Given the description of an element on the screen output the (x, y) to click on. 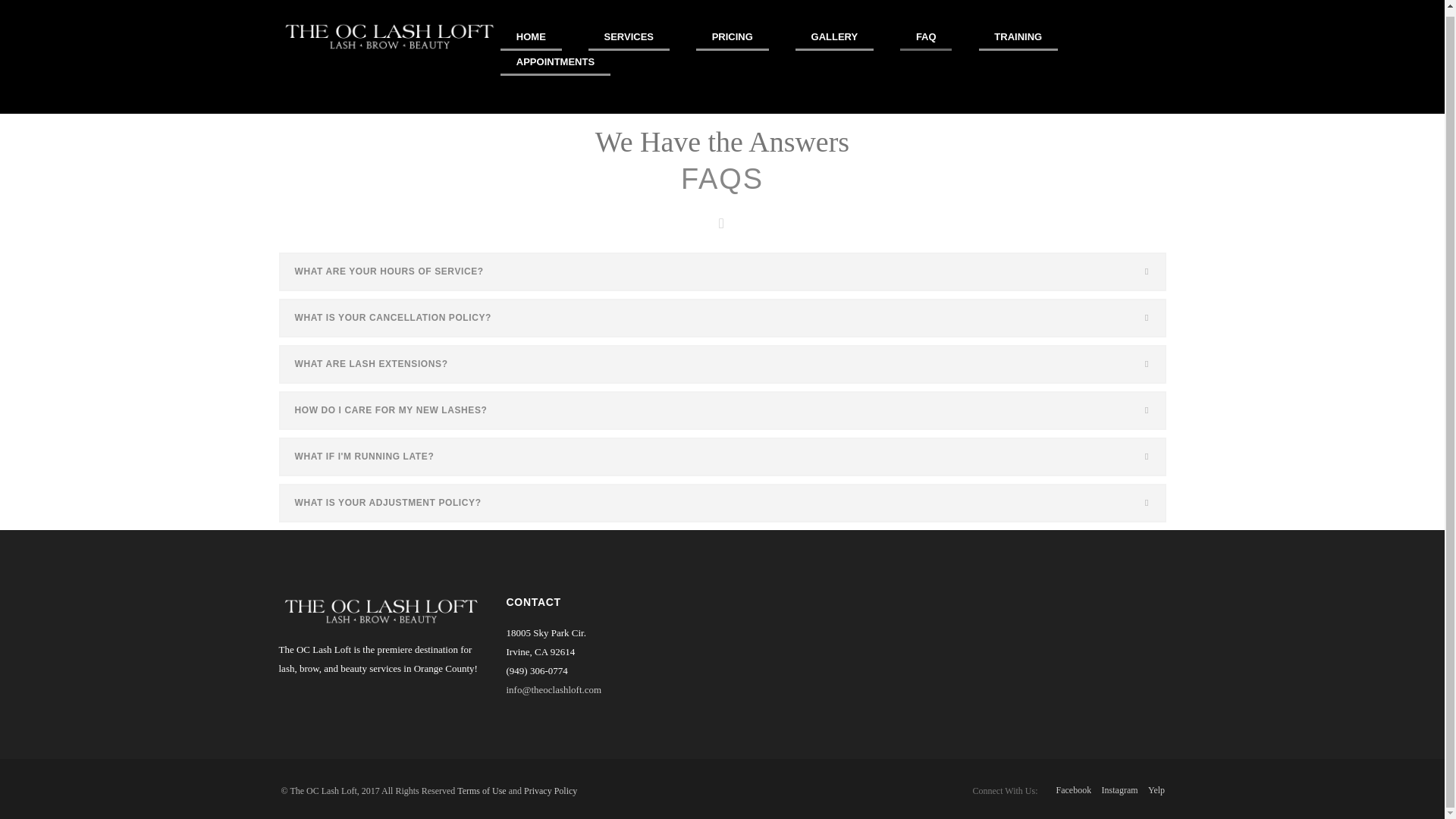
Instagram (1120, 789)
Facebook (1074, 789)
APPOINTMENTS (555, 63)
SERVICES (628, 37)
FAQ (925, 37)
Yelp (1156, 789)
HOME (531, 37)
GALLERY (833, 37)
TRAINING (1017, 37)
PRICING (731, 37)
Privacy Policy (550, 790)
Terms of Use (481, 790)
